Given the description of an element on the screen output the (x, y) to click on. 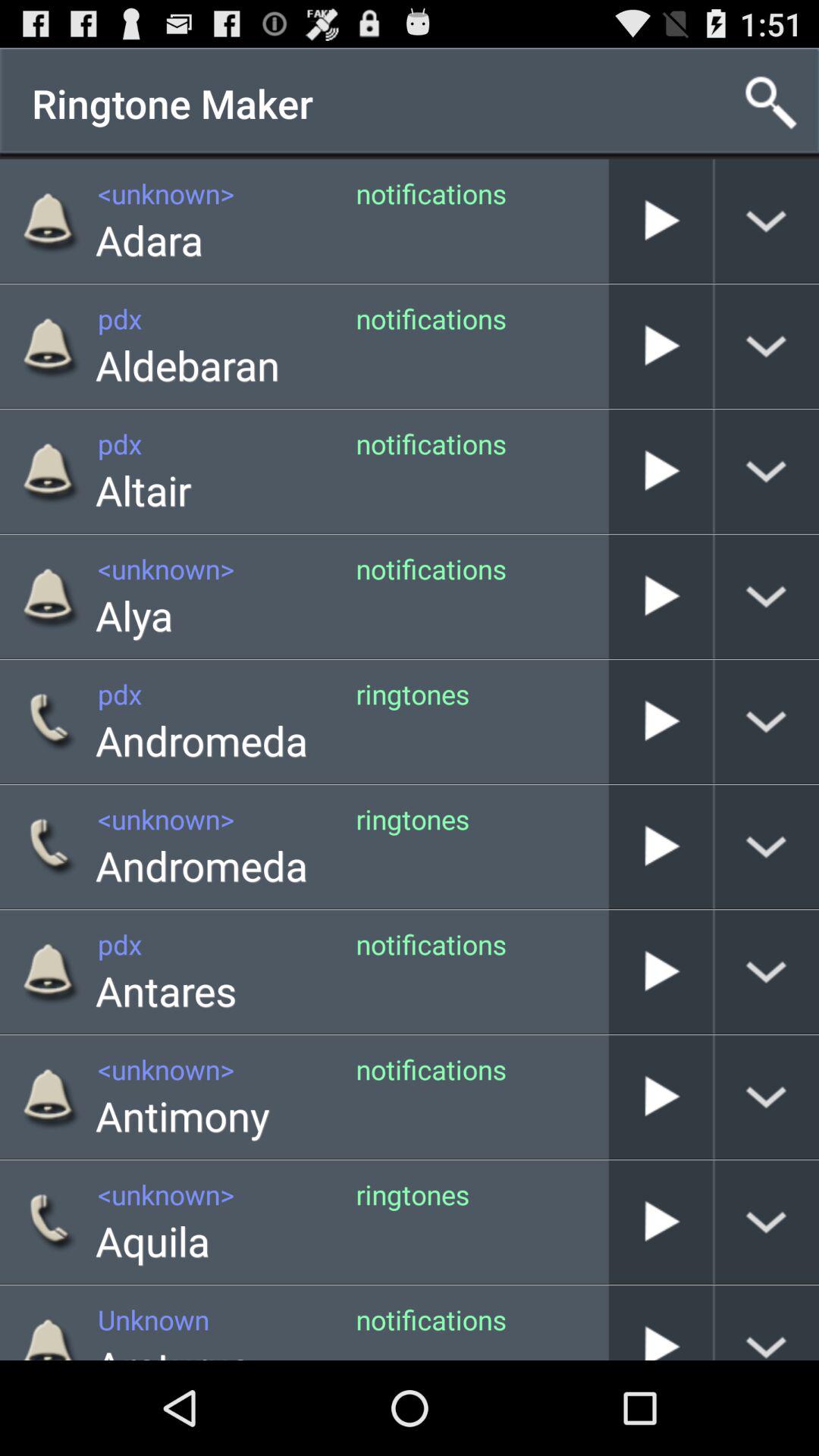
show options (767, 1322)
